Given the description of an element on the screen output the (x, y) to click on. 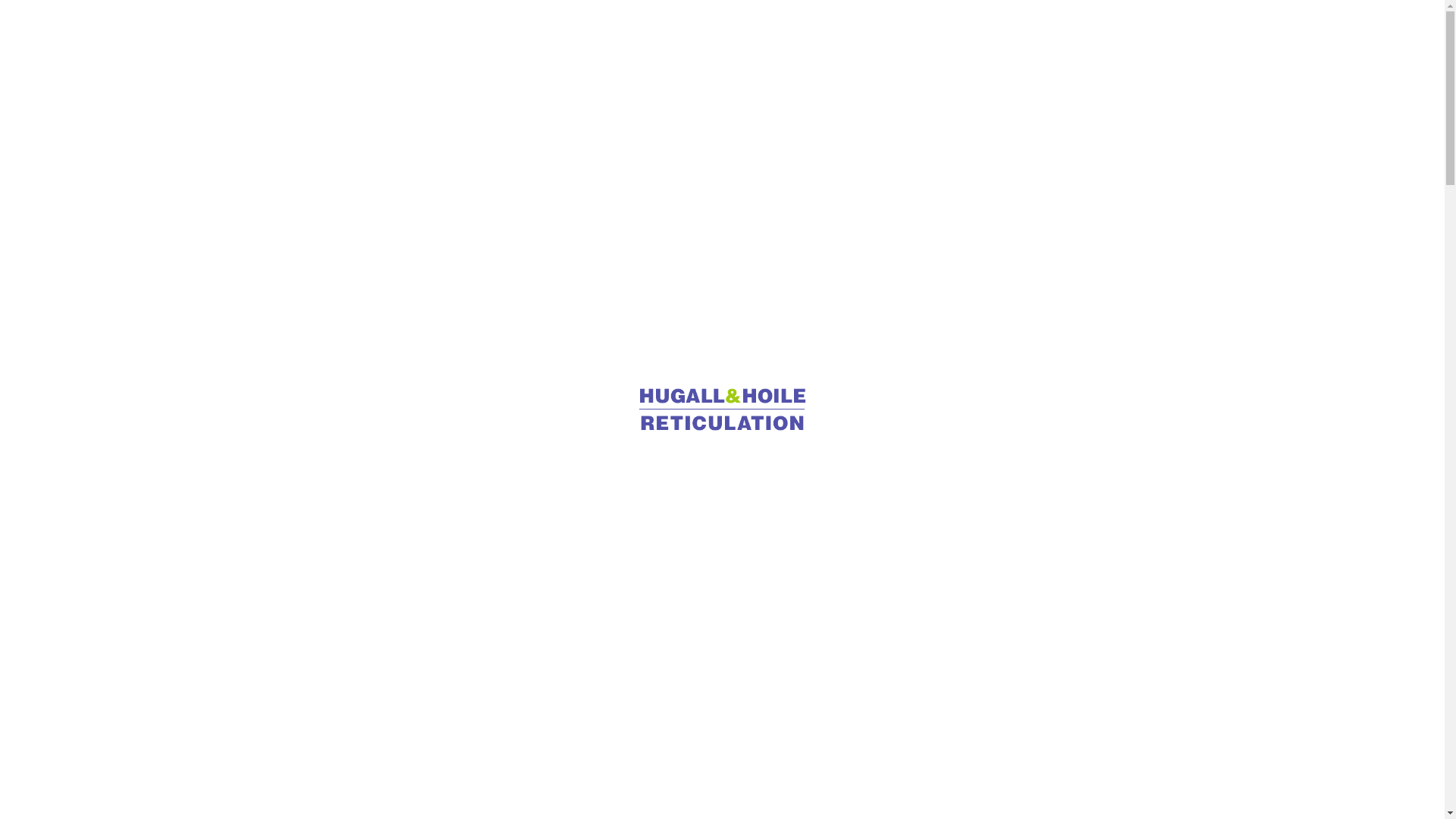
Contact Element type: text (1174, 31)
Brands Element type: text (962, 32)
Gallery Element type: text (887, 32)
Residential Element type: text (796, 32)
Home Element type: text (599, 32)
Client Reviews Element type: text (1064, 32)
Learn More Element type: text (722, 269)
Commercial Element type: text (689, 32)
